Given the description of an element on the screen output the (x, y) to click on. 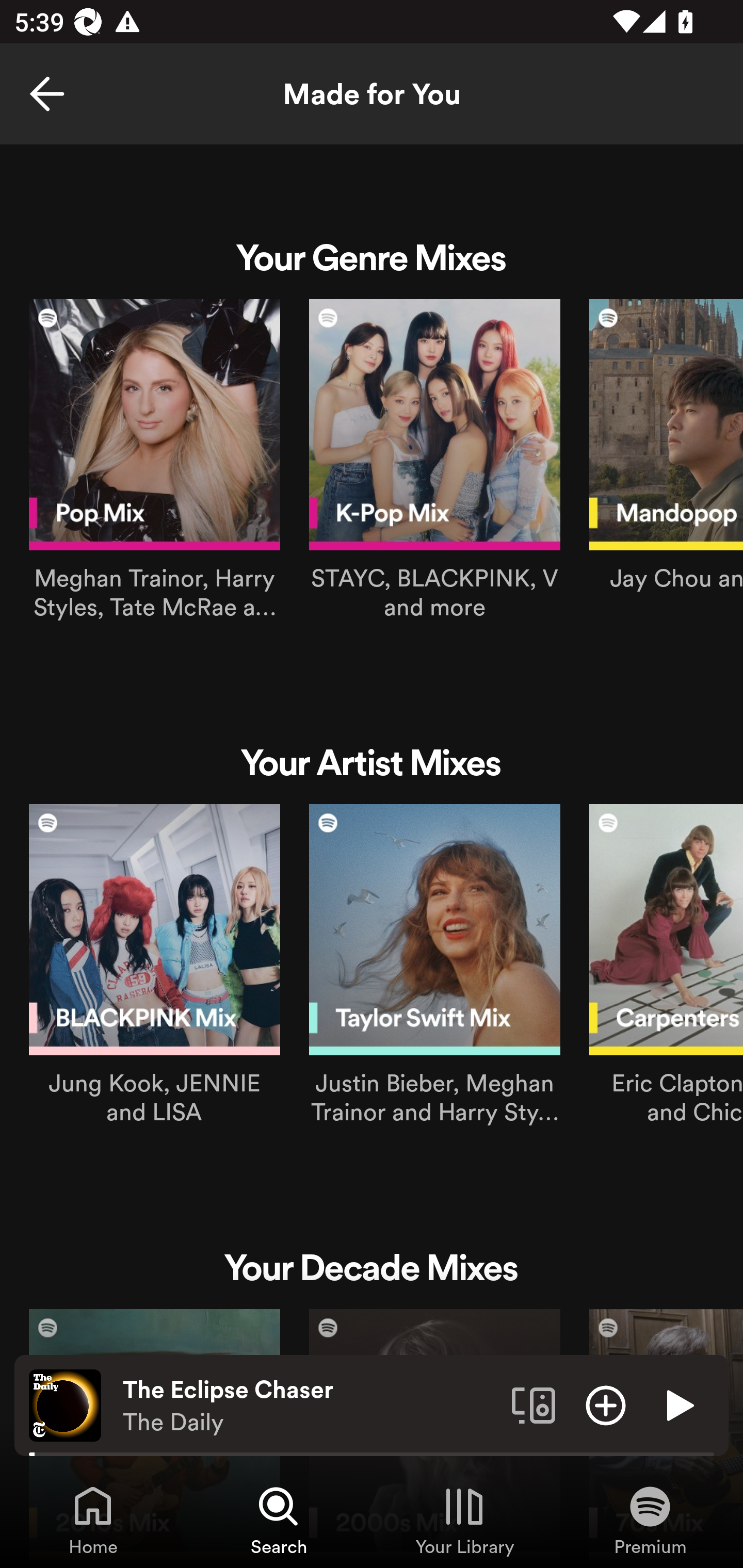
Back (46, 93)
Mandopop Mix
Jay Chou and more Jay Chou and more (666, 449)
The Eclipse Chaser The Daily (309, 1405)
The cover art of the currently playing track (64, 1404)
Connect to a device. Opens the devices menu (533, 1404)
Add item (605, 1404)
Play (677, 1404)
Home, Tab 1 of 4 Home Home (92, 1519)
Search, Tab 2 of 4 Search Search (278, 1519)
Your Library, Tab 3 of 4 Your Library Your Library (464, 1519)
Premium, Tab 4 of 4 Premium Premium (650, 1519)
